Given the description of an element on the screen output the (x, y) to click on. 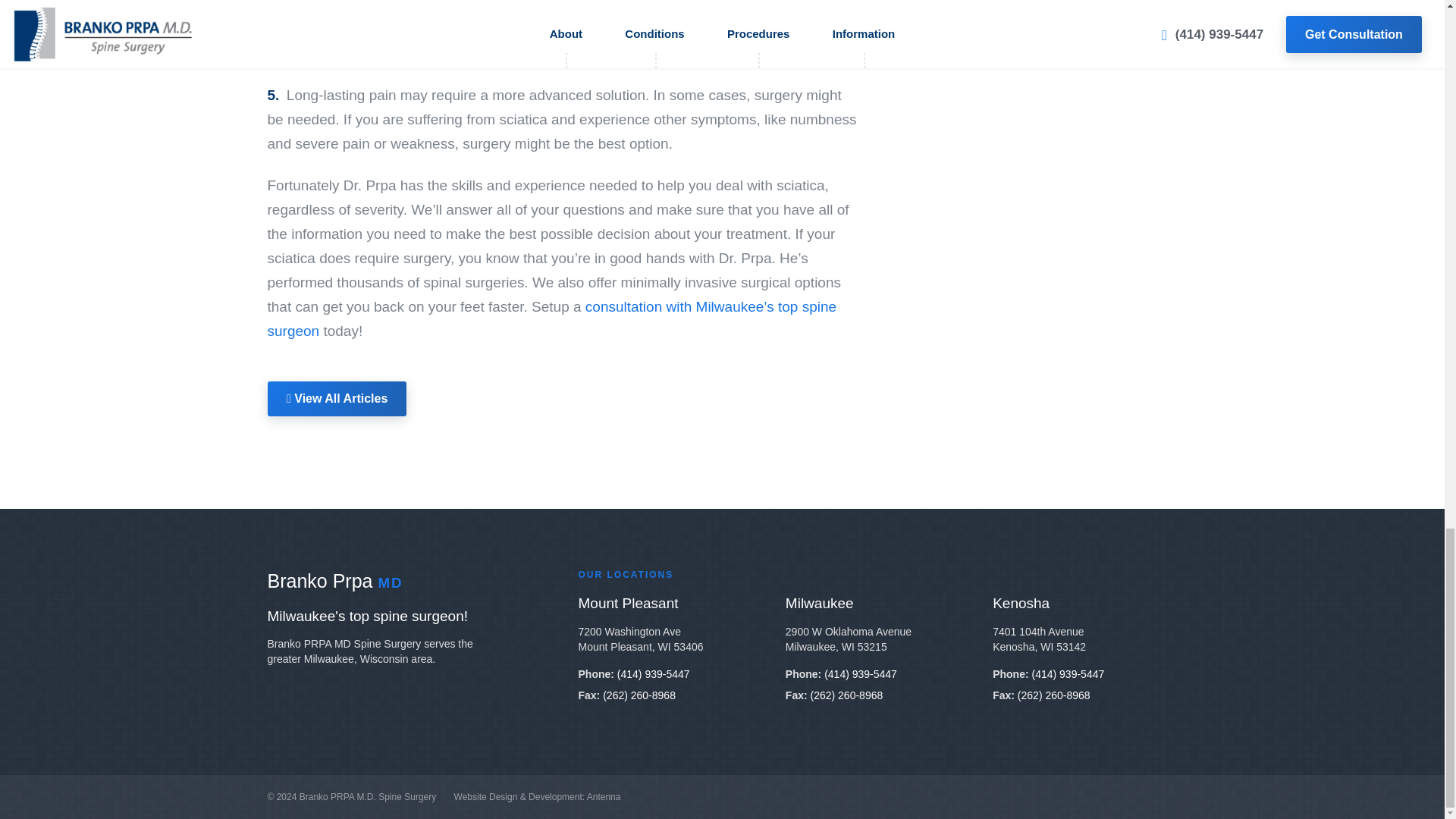
View All Articles (336, 398)
